Given the description of an element on the screen output the (x, y) to click on. 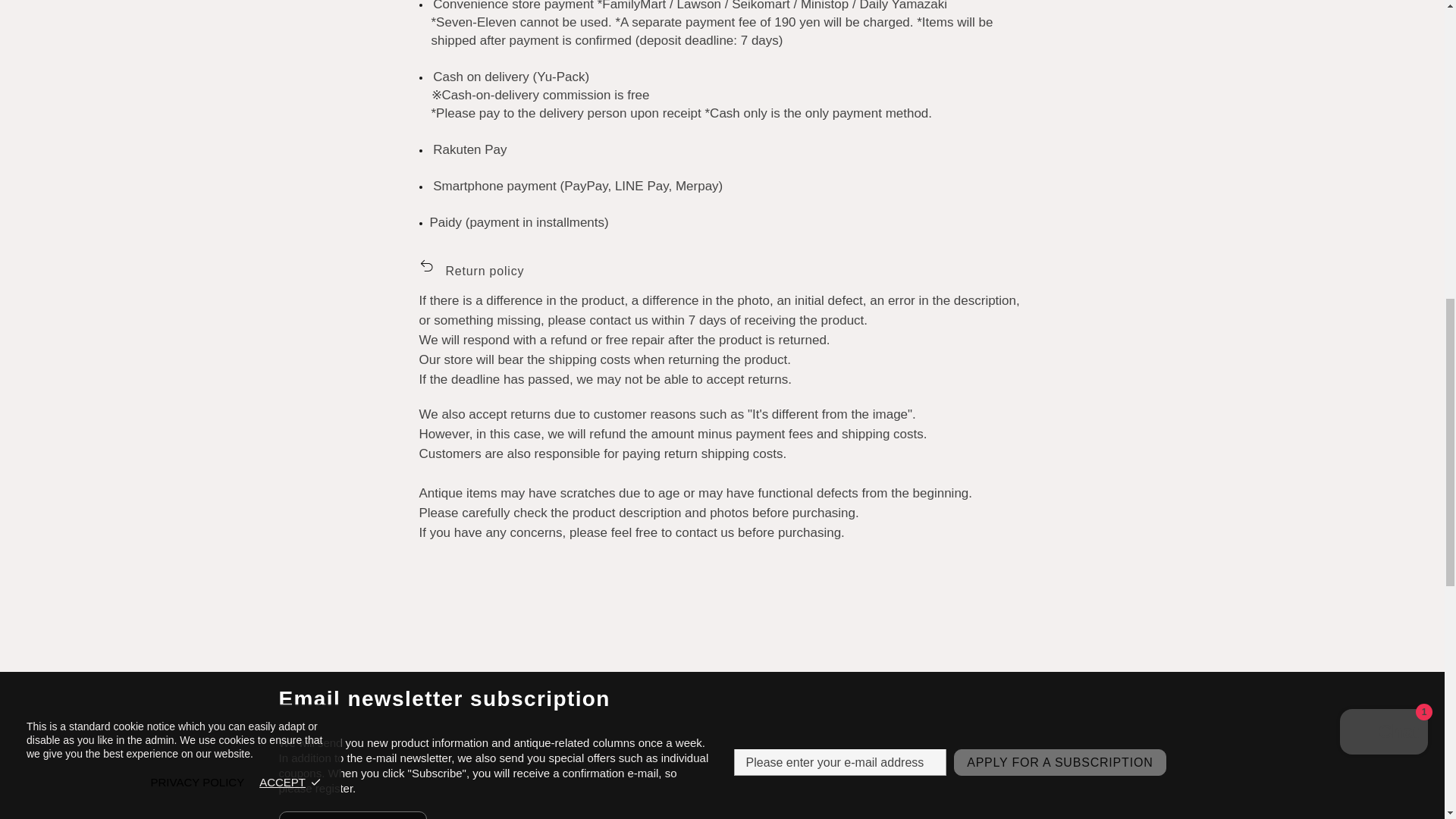
Apply for a subscription (1059, 762)
